Given the description of an element on the screen output the (x, y) to click on. 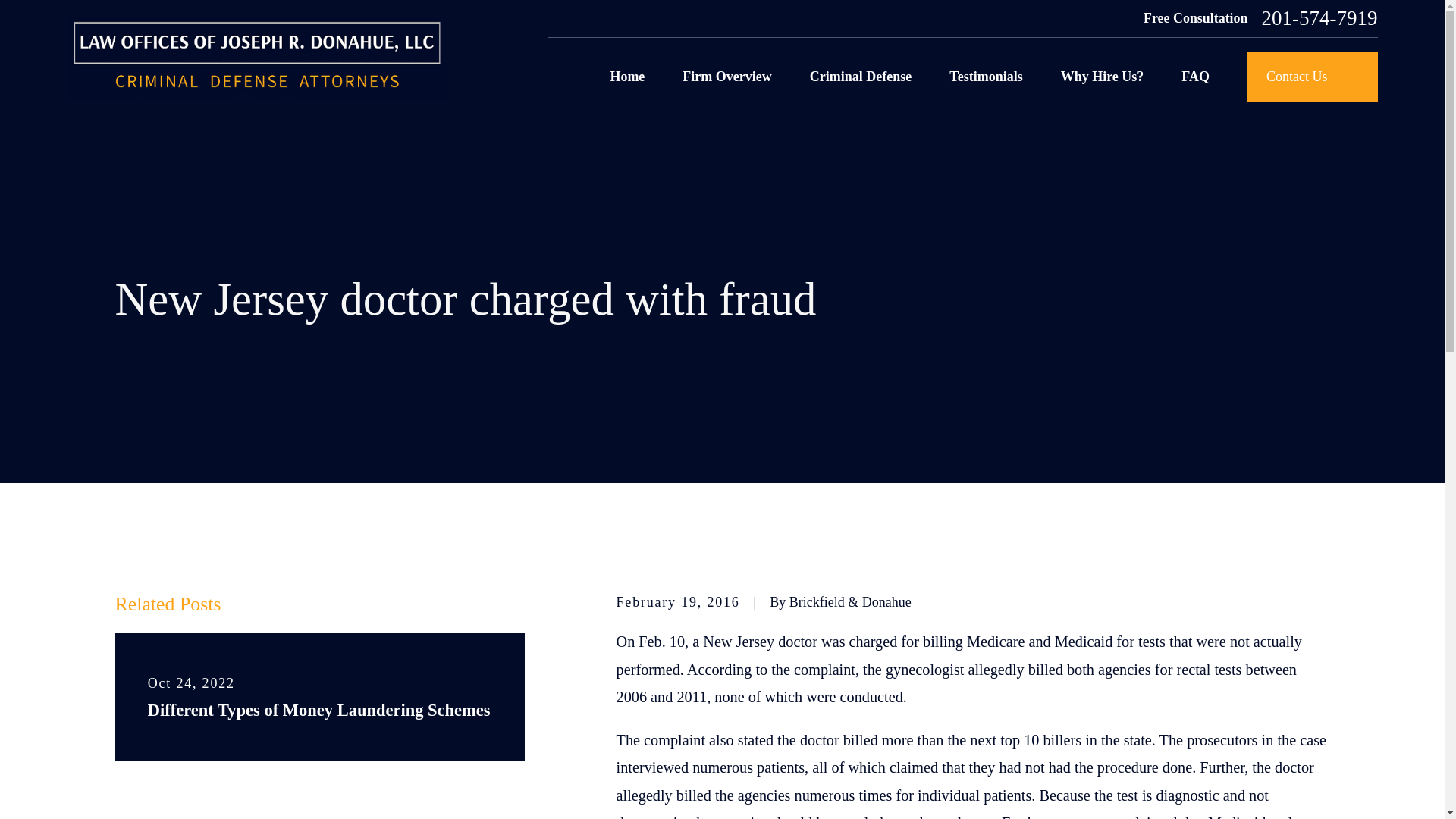
Criminal Defense (860, 77)
Home (255, 58)
Firm Overview (726, 77)
Law Offices of Joseph R. Donahue, LLC (255, 57)
201-574-7919 (1319, 18)
